Given the description of an element on the screen output the (x, y) to click on. 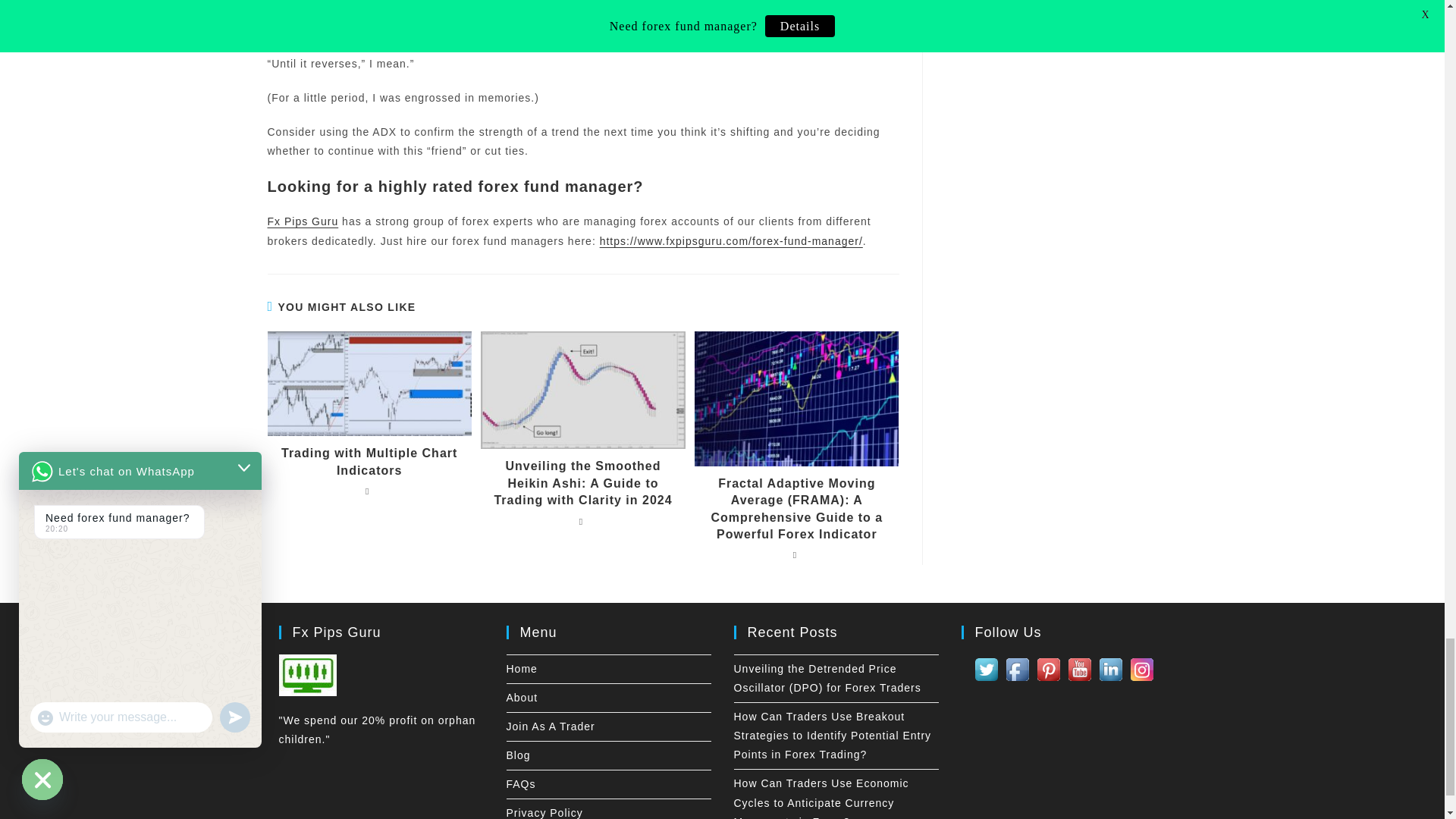
Fx Pips Guru (301, 221)
Visit Us On Instagram (1140, 667)
Visit Us On Facebook (1016, 667)
Visit Us On Twitter (986, 667)
Visit Us On Pinterest (1048, 667)
Visit Us On Youtube (1078, 667)
Visit Us On Linkedin (1109, 667)
